Given the description of an element on the screen output the (x, y) to click on. 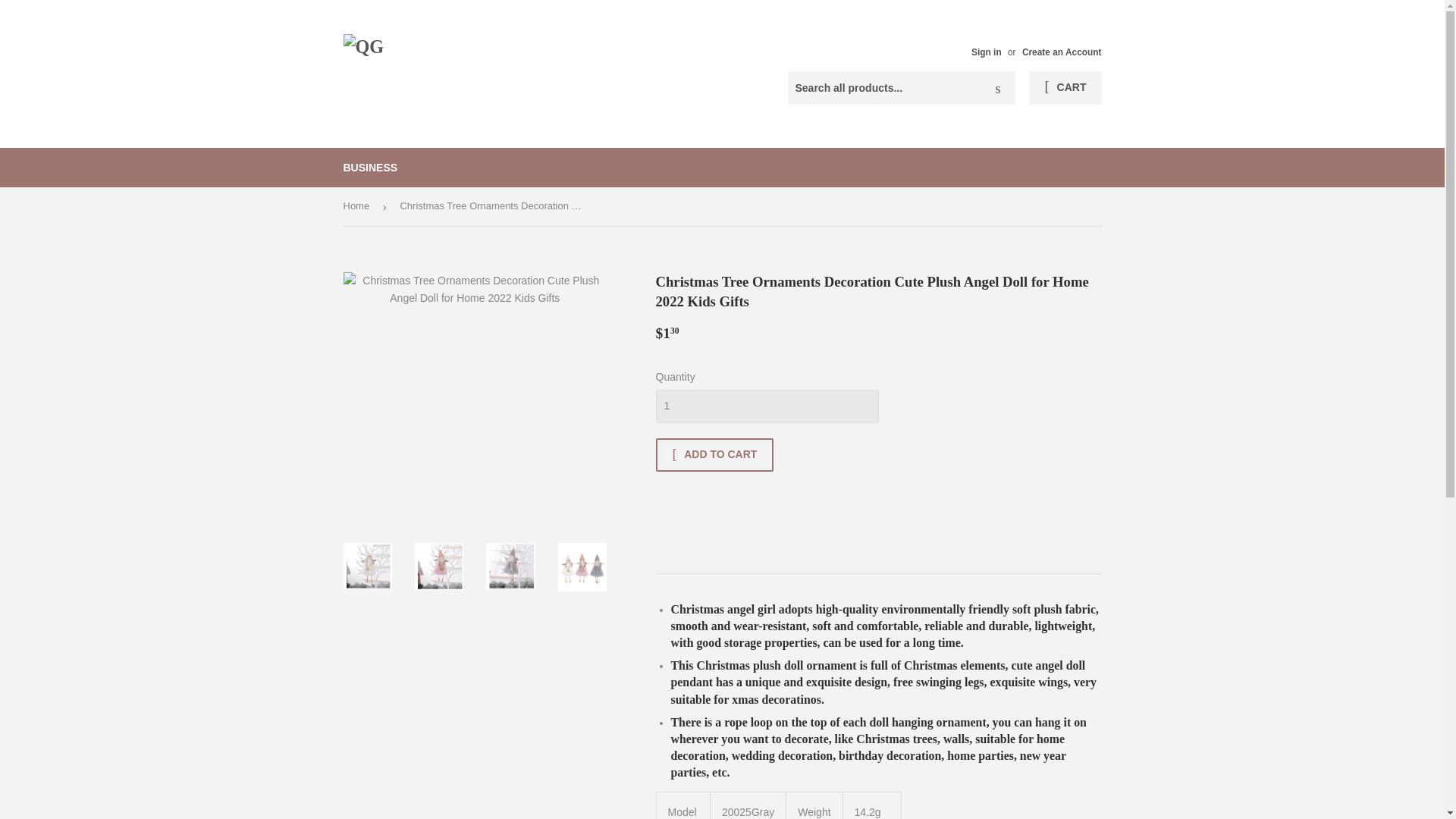
1 (766, 406)
BUSINESS (370, 167)
Sign in (986, 51)
Create an Account (1062, 51)
ADD TO CART (714, 454)
Search (997, 88)
CART (1064, 87)
